Given the description of an element on the screen output the (x, y) to click on. 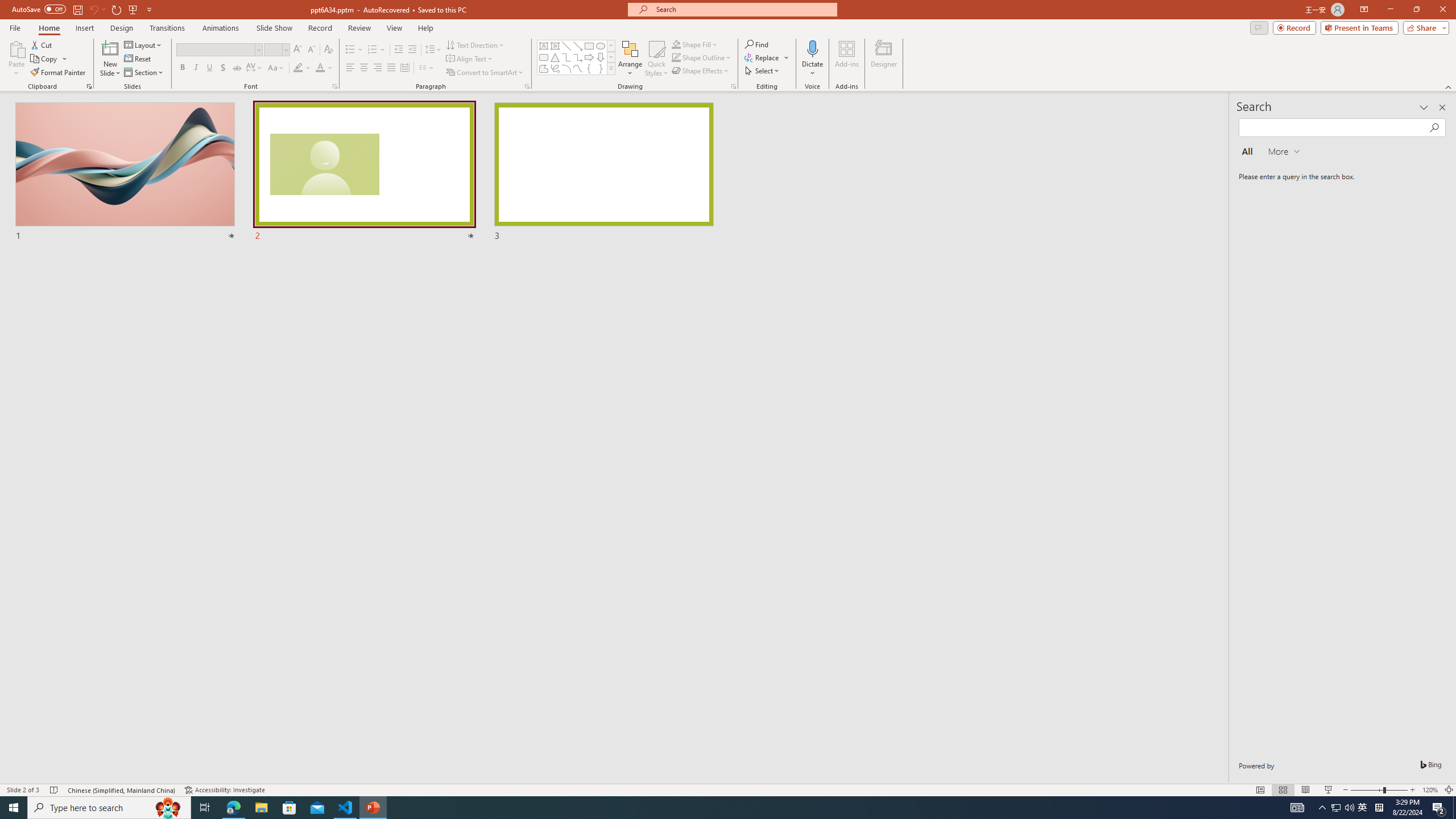
Zoom 120% (1430, 790)
